Given the description of an element on the screen output the (x, y) to click on. 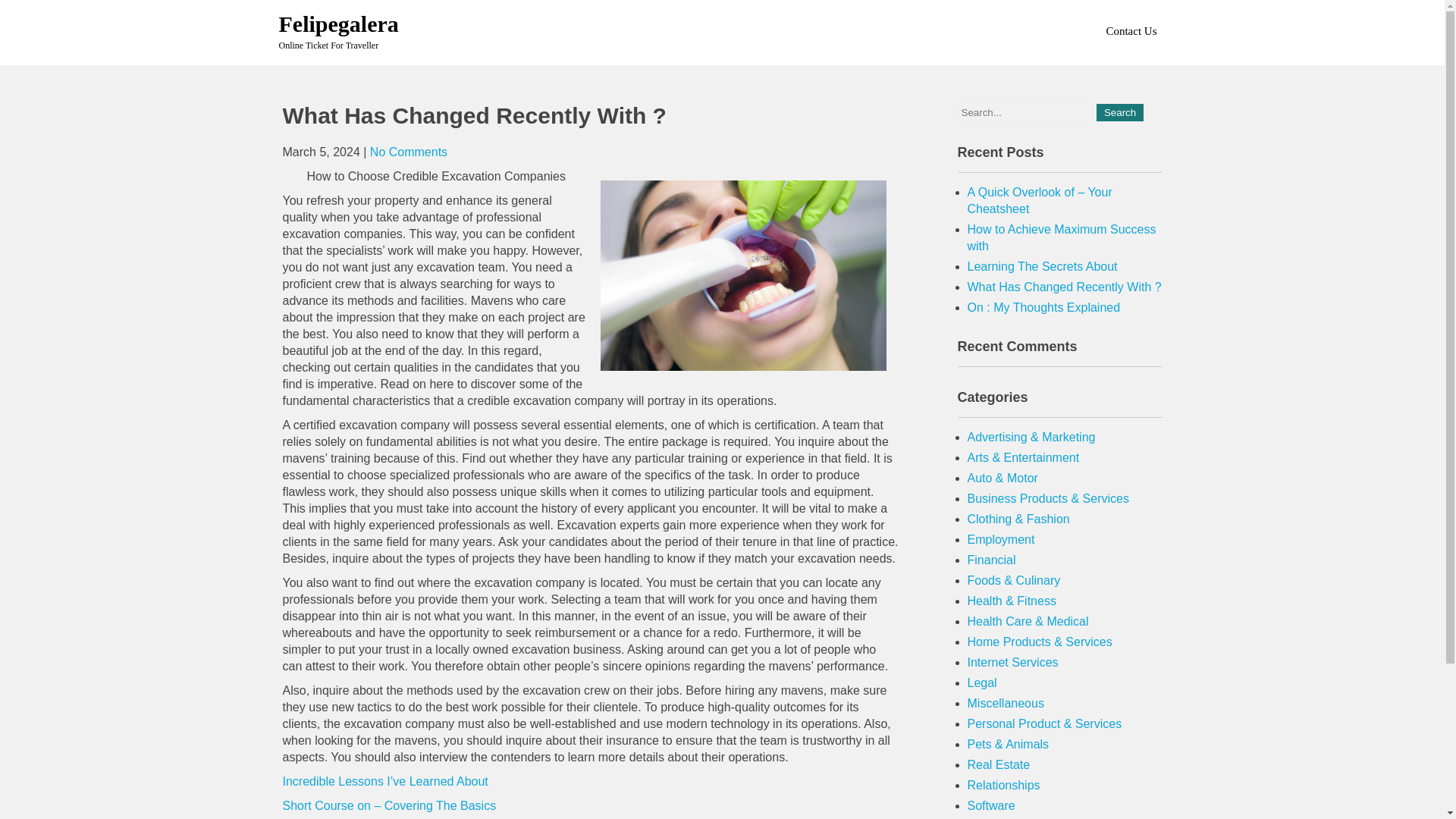
Internet Services (1013, 662)
Search (1119, 112)
Legal (982, 682)
Relationships (1004, 784)
Felipegalera (338, 23)
Financial (992, 559)
Employment (1001, 539)
Real Estate (999, 764)
Miscellaneous (1005, 703)
Learning The Secrets About (1043, 266)
Search (1119, 112)
How to Achieve Maximum Success with (1062, 237)
Software (991, 805)
On : My Thoughts Explained (1044, 307)
Search (1119, 112)
